Given the description of an element on the screen output the (x, y) to click on. 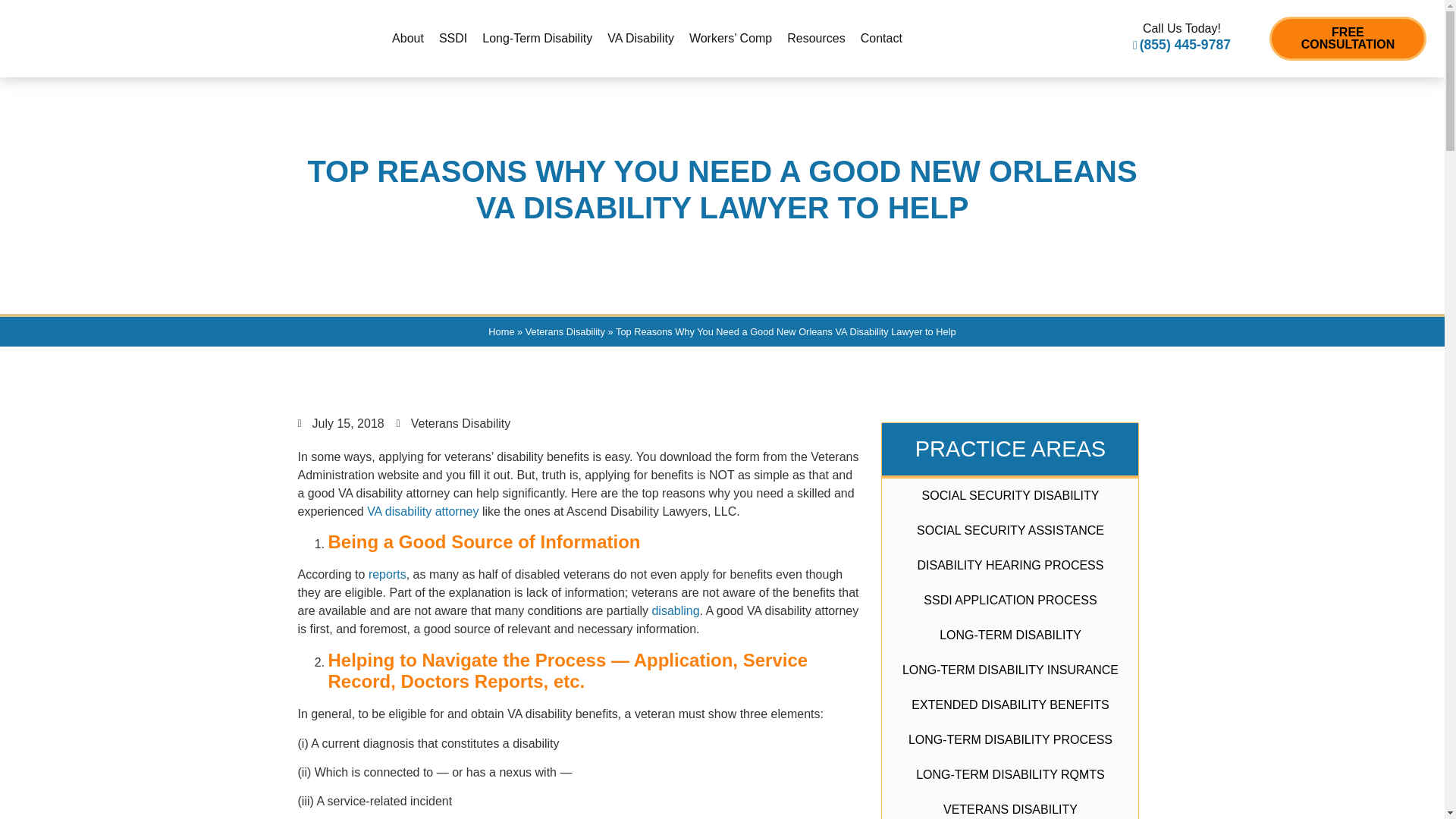
Contact (881, 38)
About (407, 38)
Resources (814, 38)
SSDI (452, 38)
VA Disability (640, 38)
Long-Term Disability (536, 38)
